Given the description of an element on the screen output the (x, y) to click on. 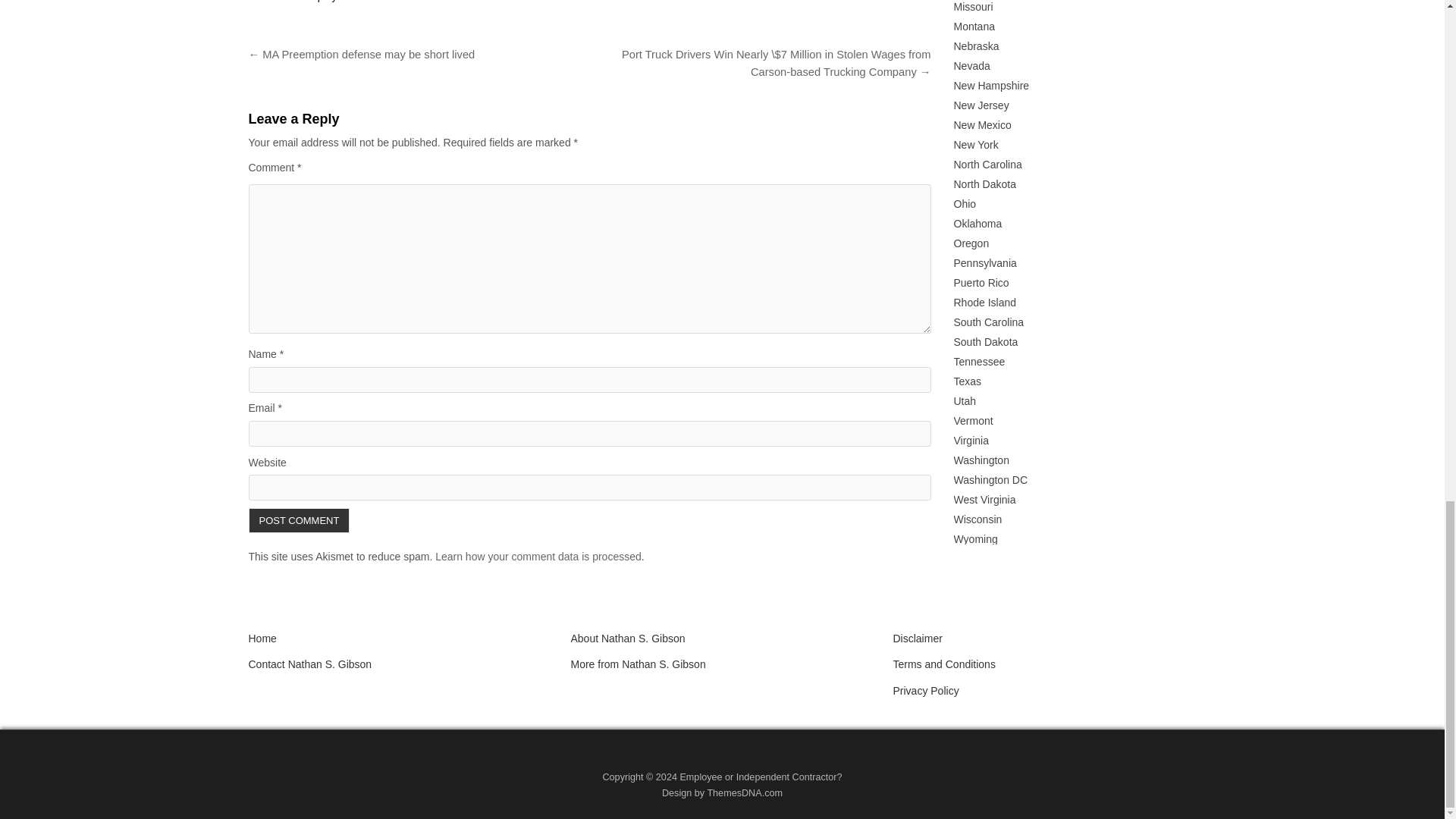
Post Comment (299, 520)
Learn how your comment data is processed (538, 556)
Post Comment (299, 520)
